Given the description of an element on the screen output the (x, y) to click on. 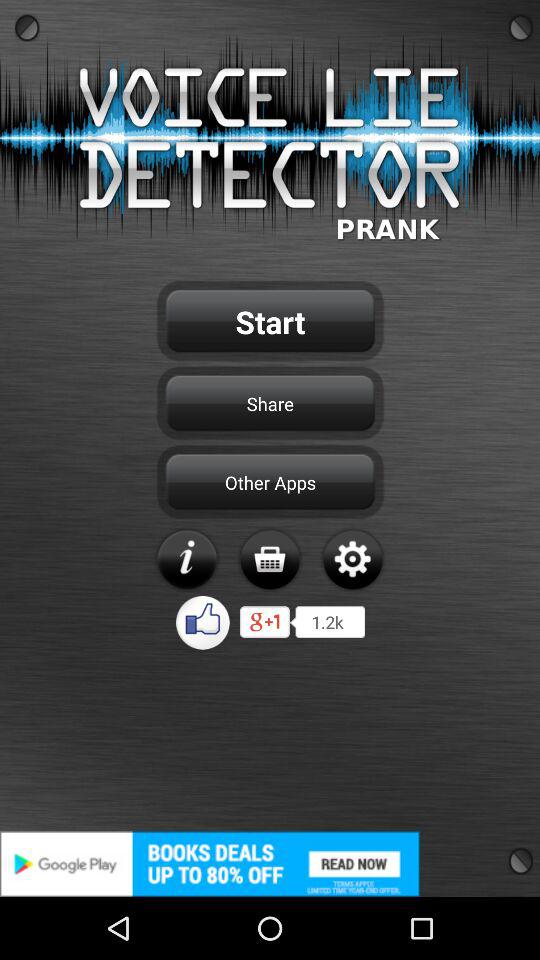
like with facebook (203, 621)
